Given the description of an element on the screen output the (x, y) to click on. 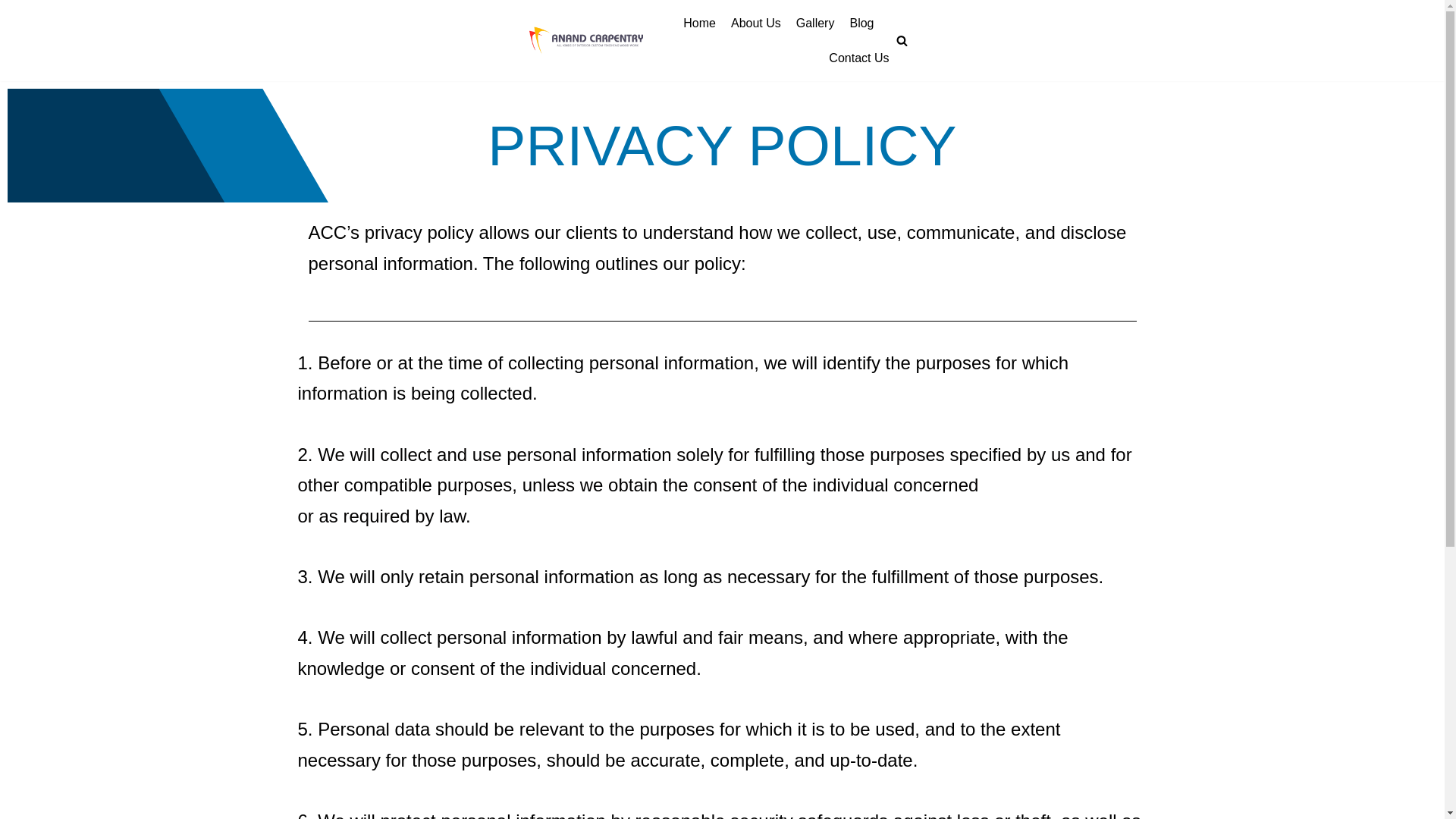
Contact Us (858, 57)
Gallery (815, 23)
Anand Carpentry (586, 40)
Blog (860, 23)
Skip to content (15, 7)
About Us (755, 23)
Home (699, 23)
